Given the description of an element on the screen output the (x, y) to click on. 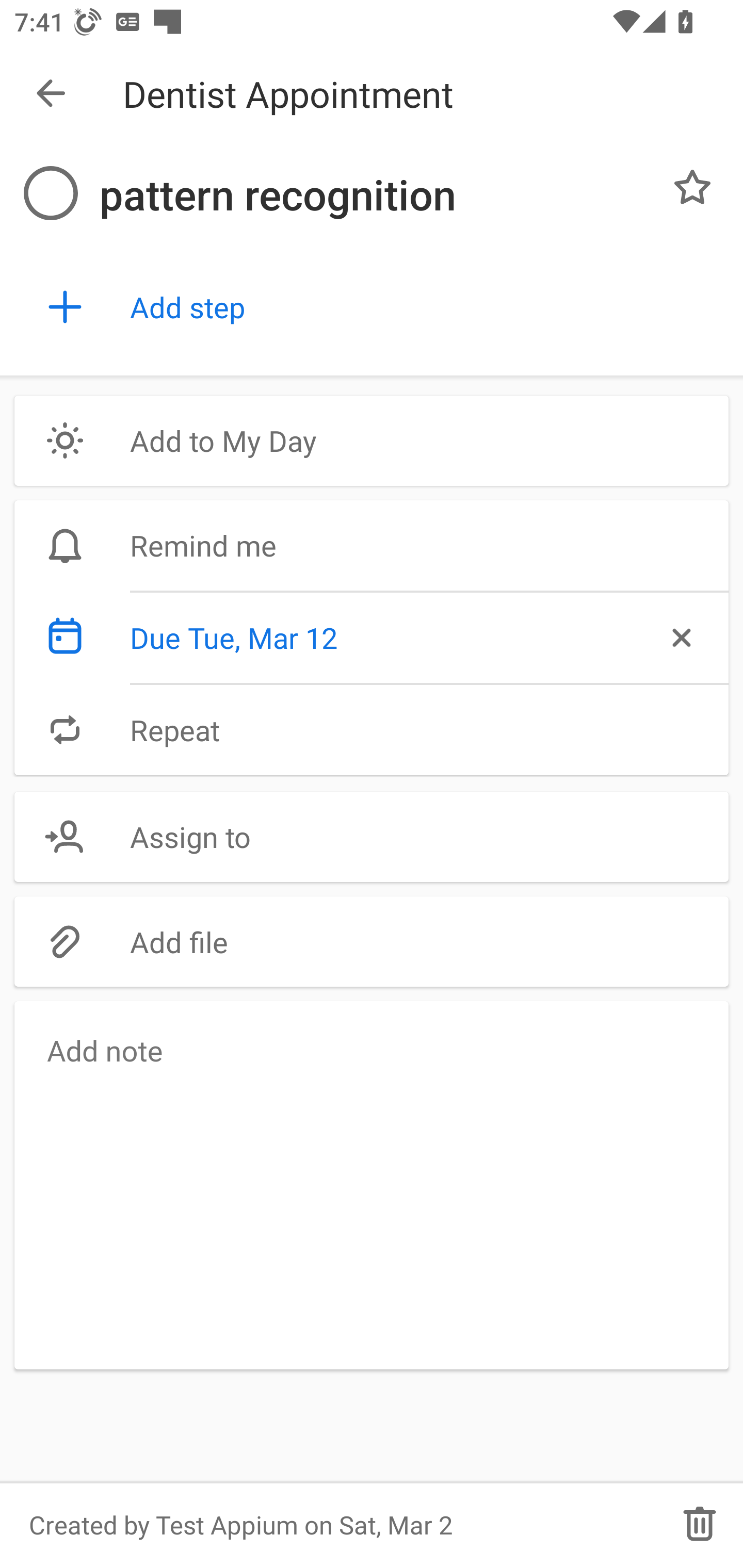
Dismiss detail view (50, 93)
Incomplete task pattern recognition, Button (50, 192)
pattern recognition (374, 195)
Normal task pattern recognition, Button (692, 187)
Add step (422, 307)
Add to My Day (371, 440)
Remind me (371, 545)
Due Tue, Mar 12 Due Tue, Mar 12 Remove due date (371, 637)
Remove due date (679, 637)
Repeat (371, 729)
Assign to (371, 836)
Add file (371, 941)
Add note, Button Email Renderer Add note (371, 1184)
Delete task (699, 1524)
